Given the description of an element on the screen output the (x, y) to click on. 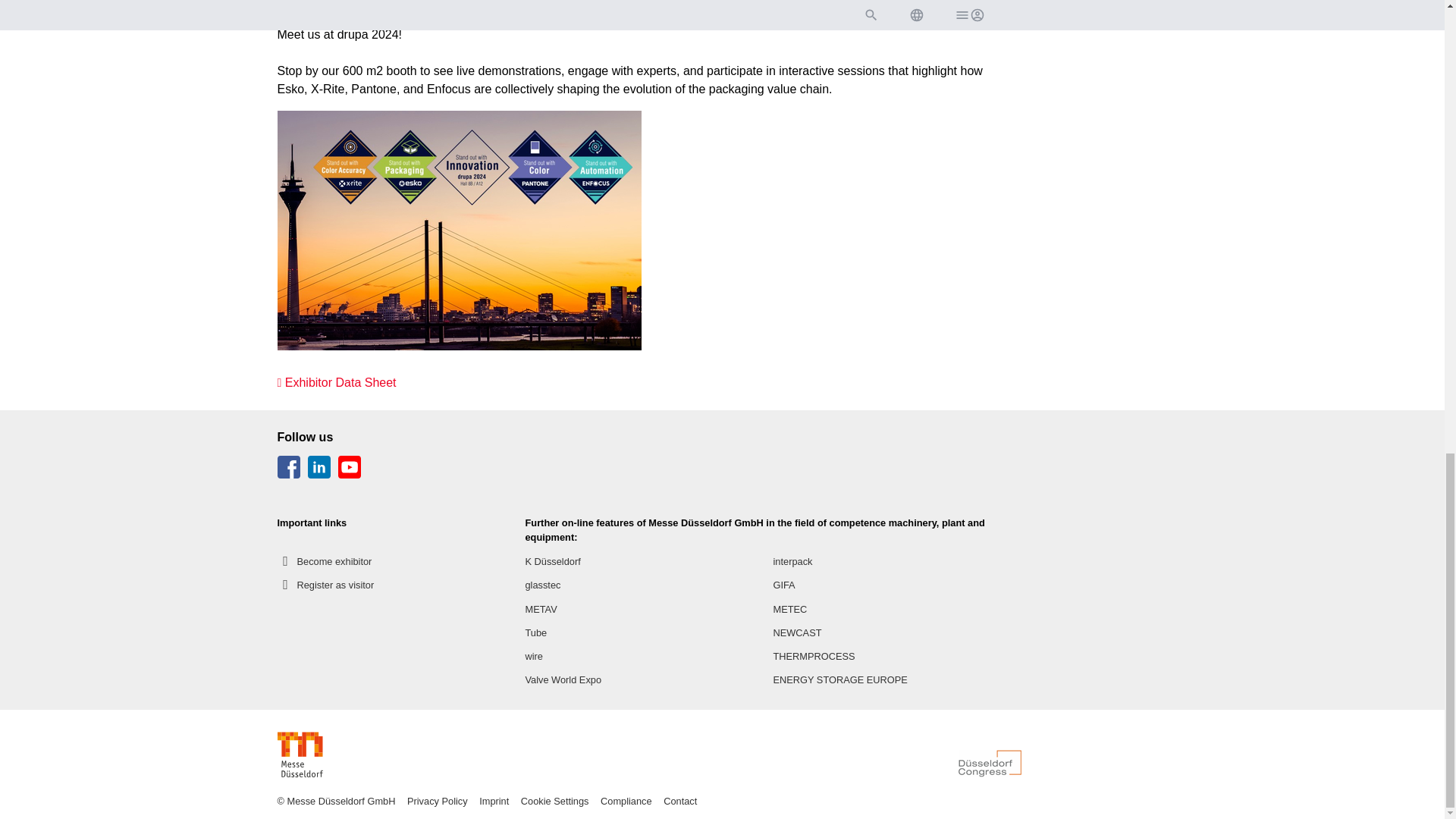
Become exhibitor (325, 561)
GIFA (783, 585)
NEWCAST (797, 632)
interpack (792, 561)
Exhibitor Data Sheet (337, 382)
glasstec (542, 585)
THERMPROCESS (814, 656)
METAV (540, 608)
Tube (535, 632)
Facebook (290, 473)
METEC (790, 608)
wire (532, 656)
Register as visitor (326, 585)
